Given the description of an element on the screen output the (x, y) to click on. 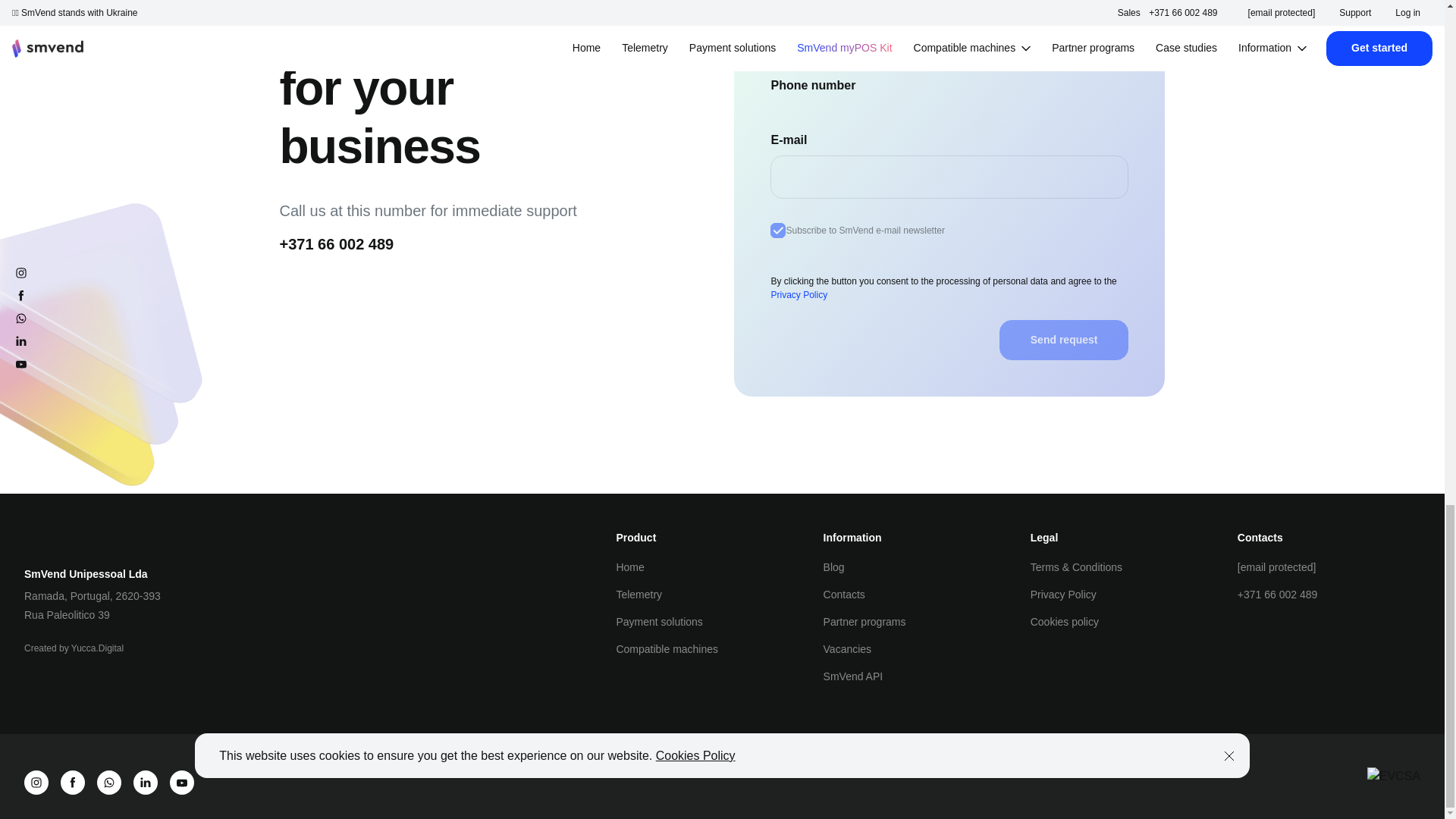
SmVend (60, 538)
Privacy Policy (798, 294)
Payment solutions (658, 621)
Yucca.Digital (97, 647)
Home (629, 567)
on (778, 230)
Telemetry (638, 594)
Send request (1063, 340)
